Given the description of an element on the screen output the (x, y) to click on. 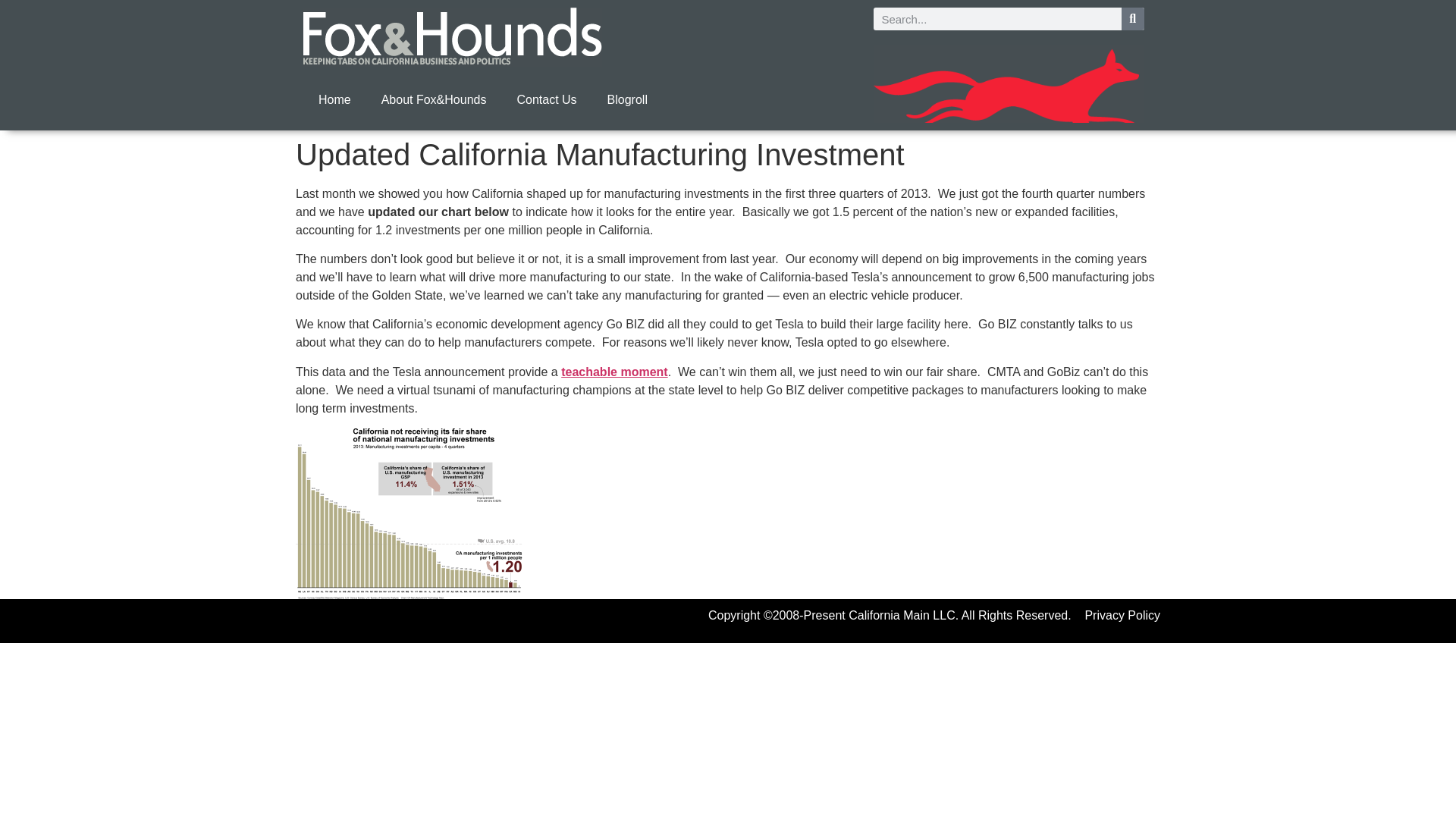
Blogroll (627, 99)
Privacy Policy (1122, 615)
Contact Us (545, 99)
Home (334, 99)
teachable moment (613, 371)
